Given the description of an element on the screen output the (x, y) to click on. 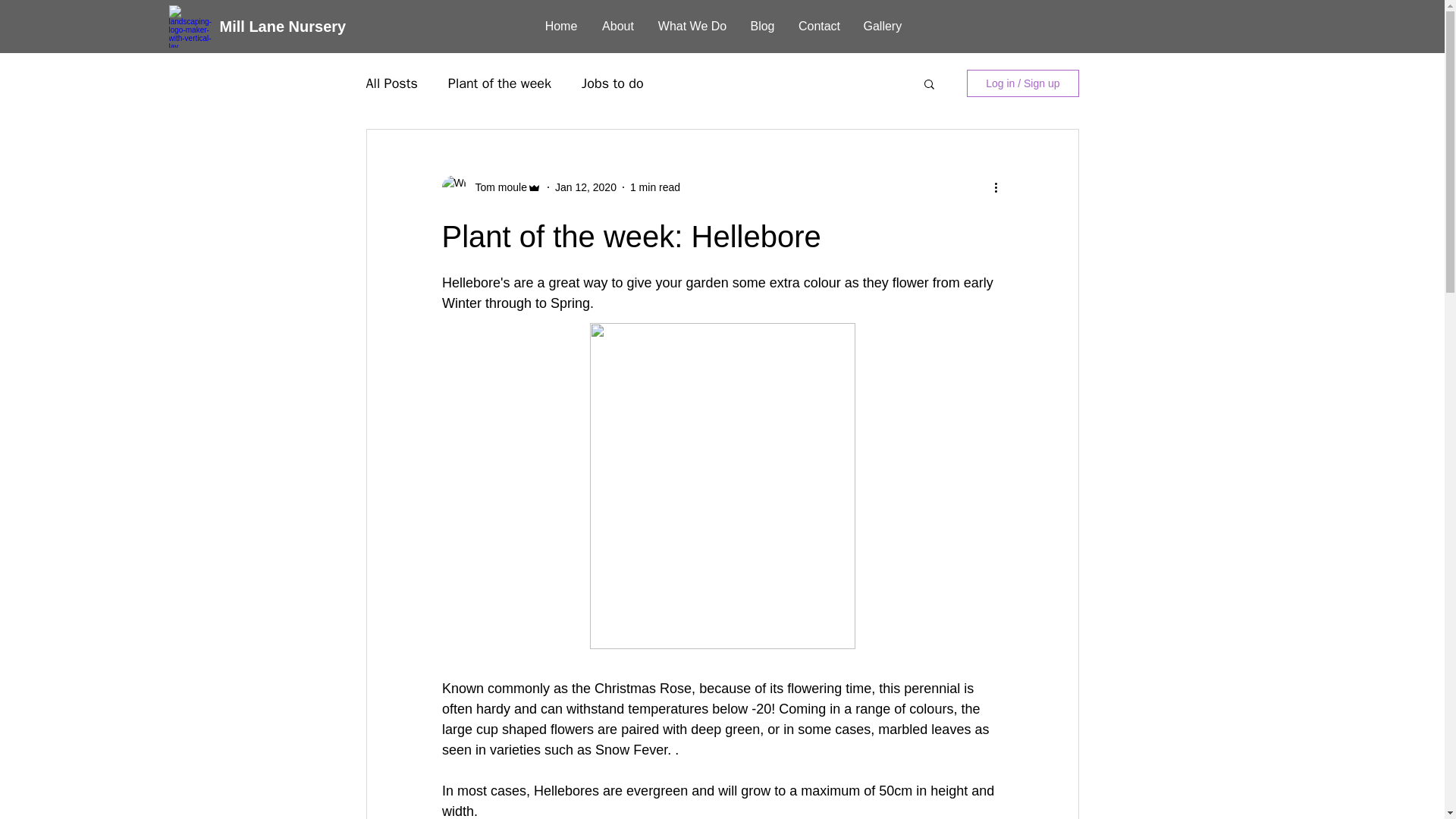
Plant of the week (499, 83)
Tom moule (495, 186)
What We Do (692, 26)
All Posts (390, 83)
Contact (819, 26)
Home (560, 26)
Jan 12, 2020 (584, 186)
Mill Lane Nursery (282, 25)
Jobs to do (611, 83)
About (617, 26)
